Given the description of an element on the screen output the (x, y) to click on. 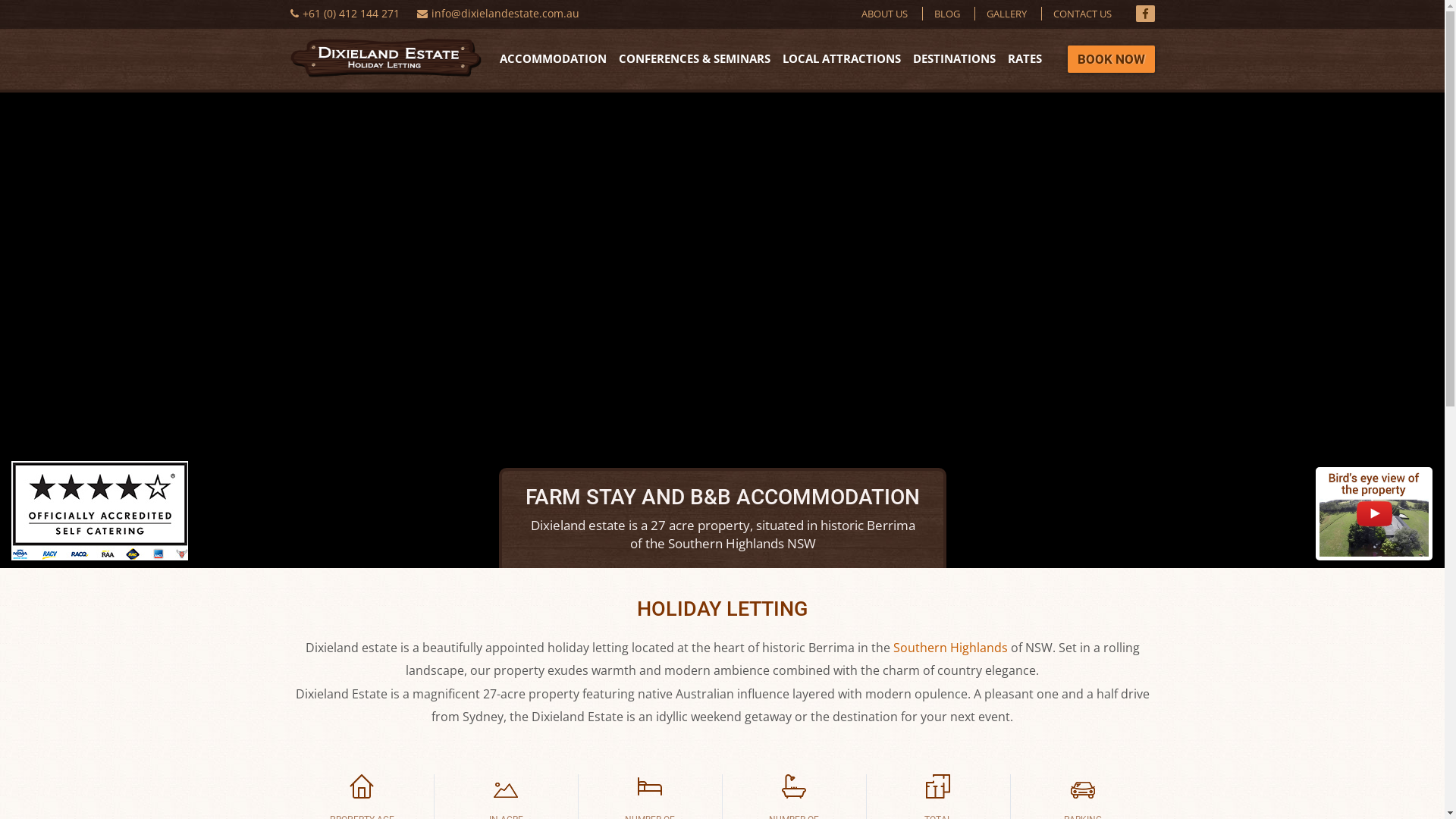
LOCAL ATTRACTIONS Element type: text (841, 60)
info@dixielandestate.com.au Element type: text (504, 13)
DESTINATIONS Element type: text (953, 60)
Birds Eye View of the Property Element type: hover (1373, 512)
ABOUT US Element type: text (884, 13)
GALLERY Element type: text (994, 13)
RATES Element type: text (1021, 60)
CONFERENCES & SEMINARS Element type: text (694, 60)
CONTACT US Element type: text (1070, 13)
BLOG Element type: text (935, 13)
ACCOMMODATION Element type: text (555, 60)
BOOK NOW Element type: text (1110, 58)
Southern Highlands Element type: text (950, 647)
